Given the description of an element on the screen output the (x, y) to click on. 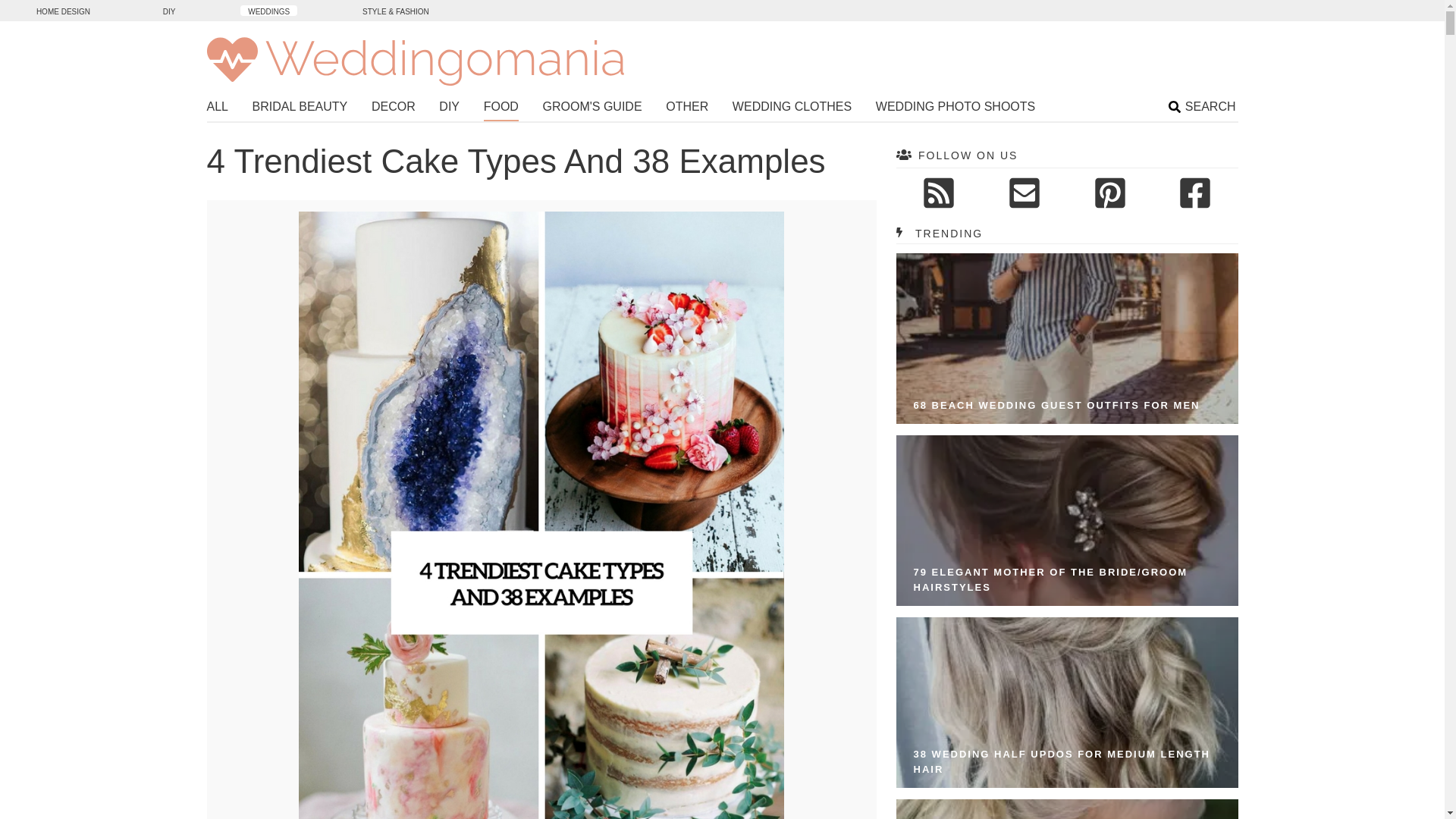
SEARCH (1202, 108)
GROOM'S GUIDE (592, 108)
DigsDigs (63, 9)
Style and Fashion Tips (395, 9)
WEDDING CLOTHES (791, 108)
DECOR (392, 108)
ALL (216, 108)
DIY Projects and Crafts (169, 9)
FOOD (500, 109)
DIY (169, 9)
HOME DESIGN (63, 9)
WEDDING PHOTO SHOOTS (955, 108)
BRIDAL BEAUTY (299, 108)
OTHER (686, 108)
